Given the description of an element on the screen output the (x, y) to click on. 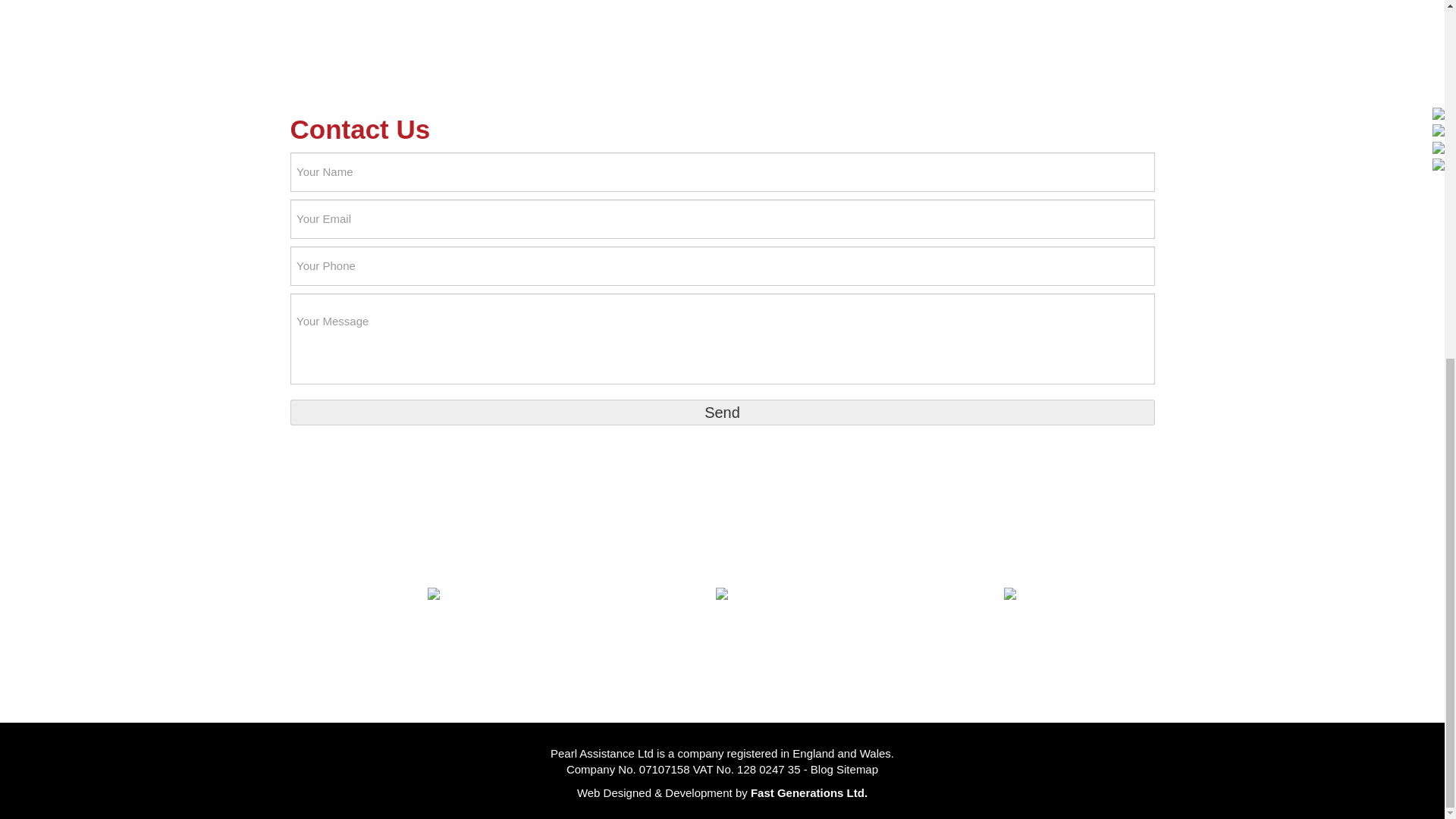
020 7993 2577 (434, 624)
Sitemap (856, 768)
Send (721, 412)
Send (721, 412)
Blog (821, 768)
Fast Generations Ltd. (809, 792)
